Given the description of an element on the screen output the (x, y) to click on. 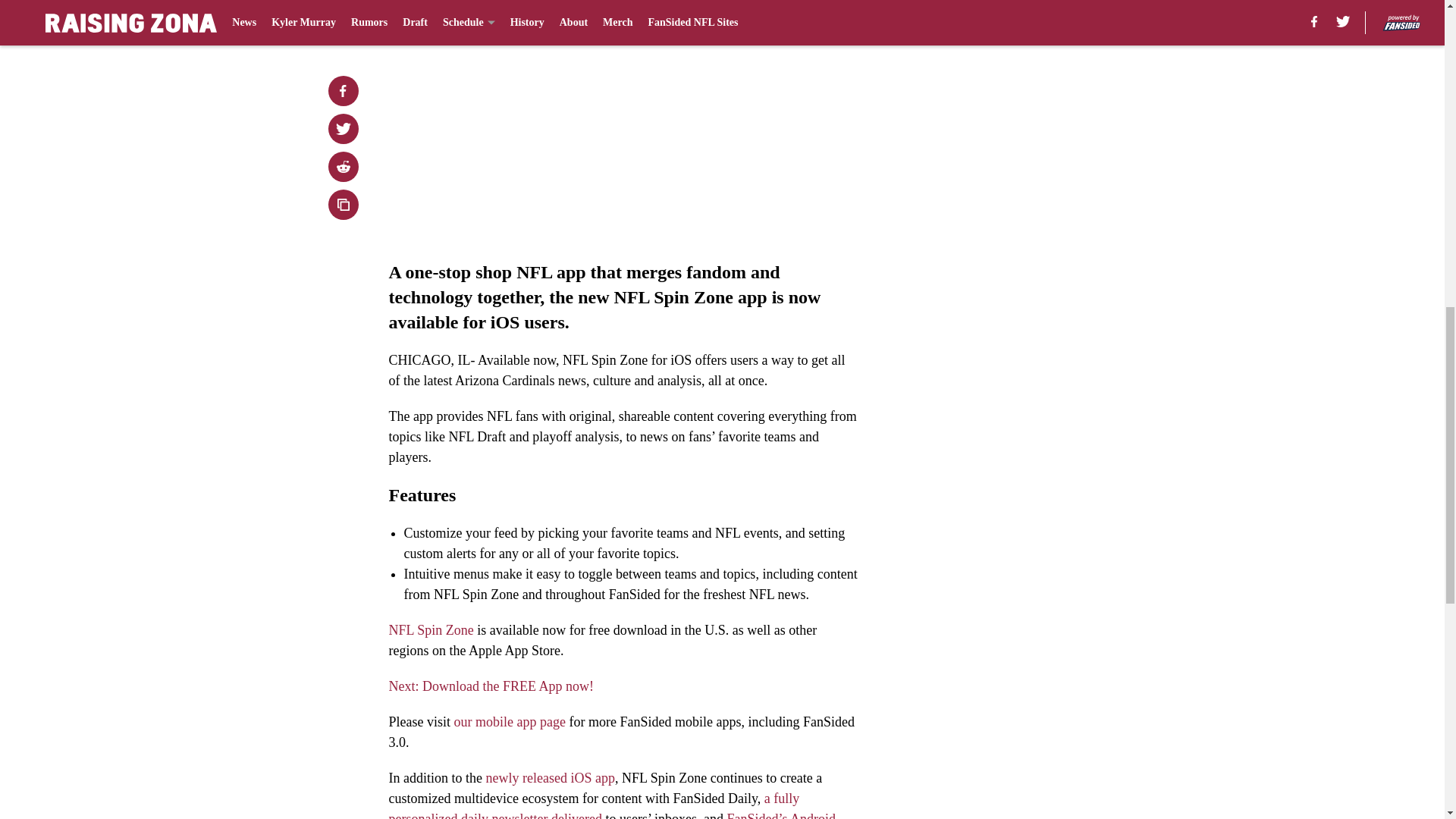
newly released iOS app (549, 777)
NFL Spin Zone (430, 630)
our mobile app page (508, 721)
Next: Download the FREE App now! (490, 685)
a fully personalized daily newsletter delivered (593, 805)
